Given the description of an element on the screen output the (x, y) to click on. 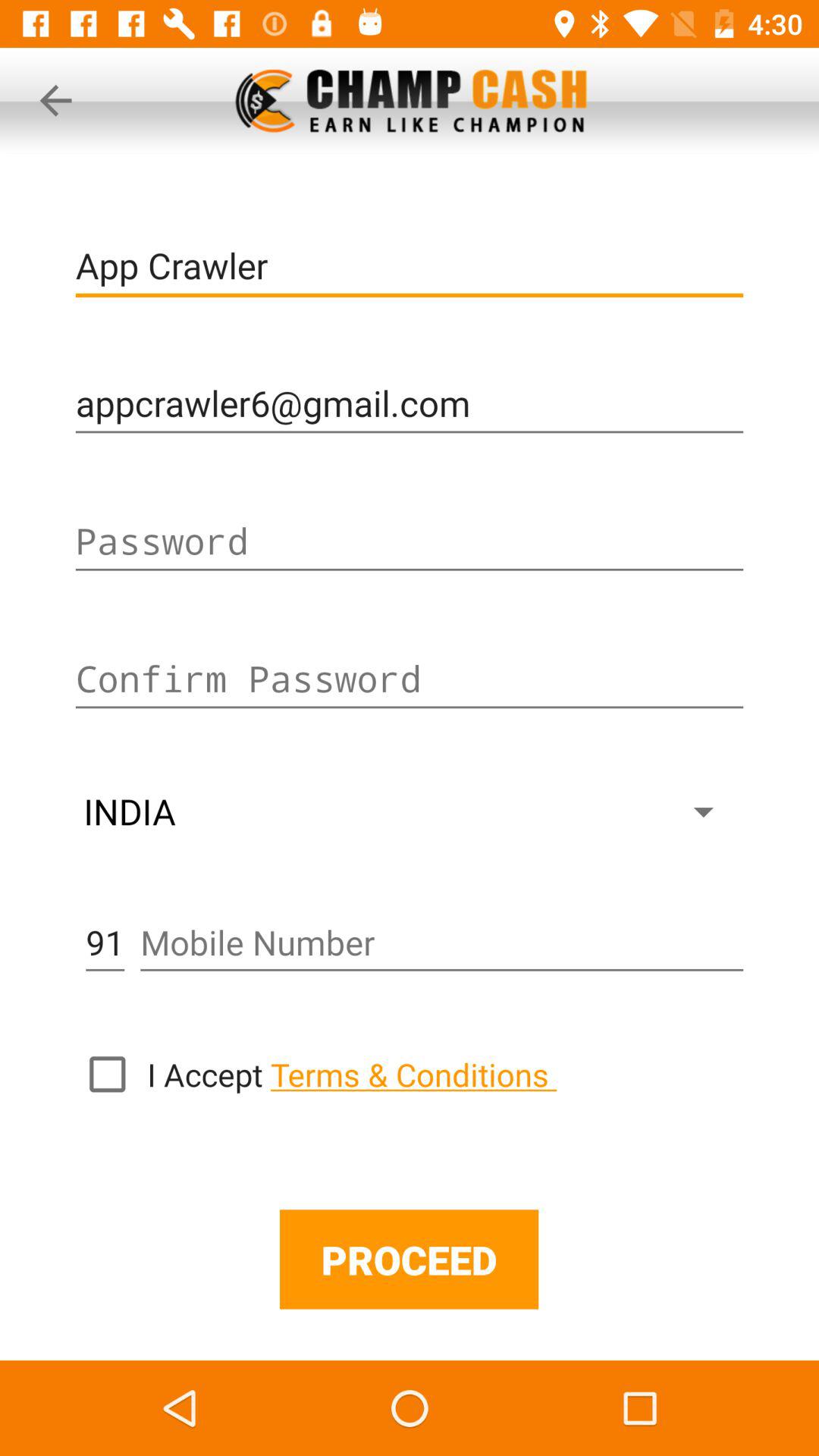
input password (409, 541)
